Given the description of an element on the screen output the (x, y) to click on. 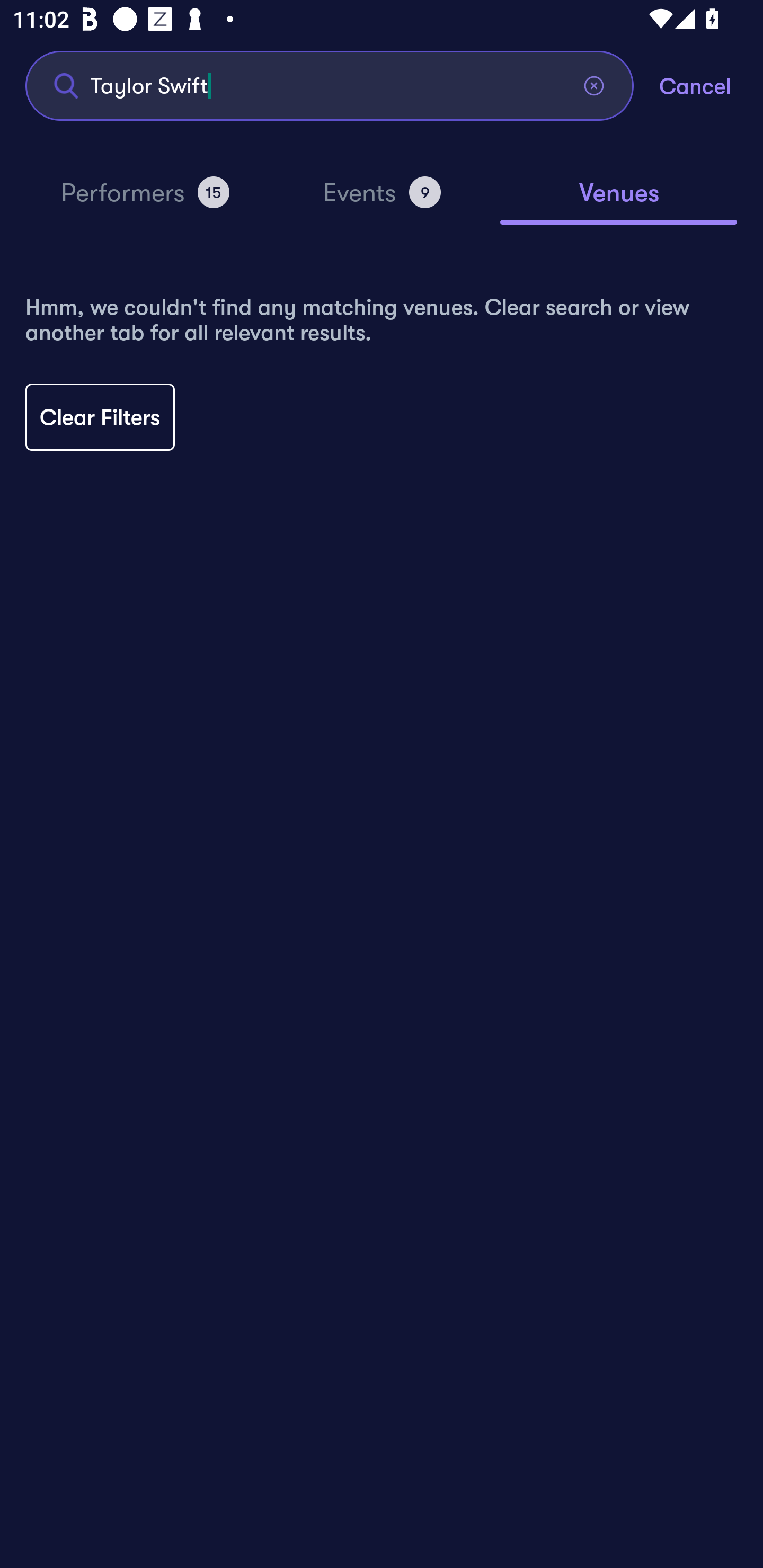
Cancel (711, 85)
Taylor Swift Find (329, 85)
Taylor Swift Find (329, 85)
Performers 15 (144, 200)
Events 9 (381, 200)
Venues (618, 201)
Clear Filters (99, 417)
